Given the description of an element on the screen output the (x, y) to click on. 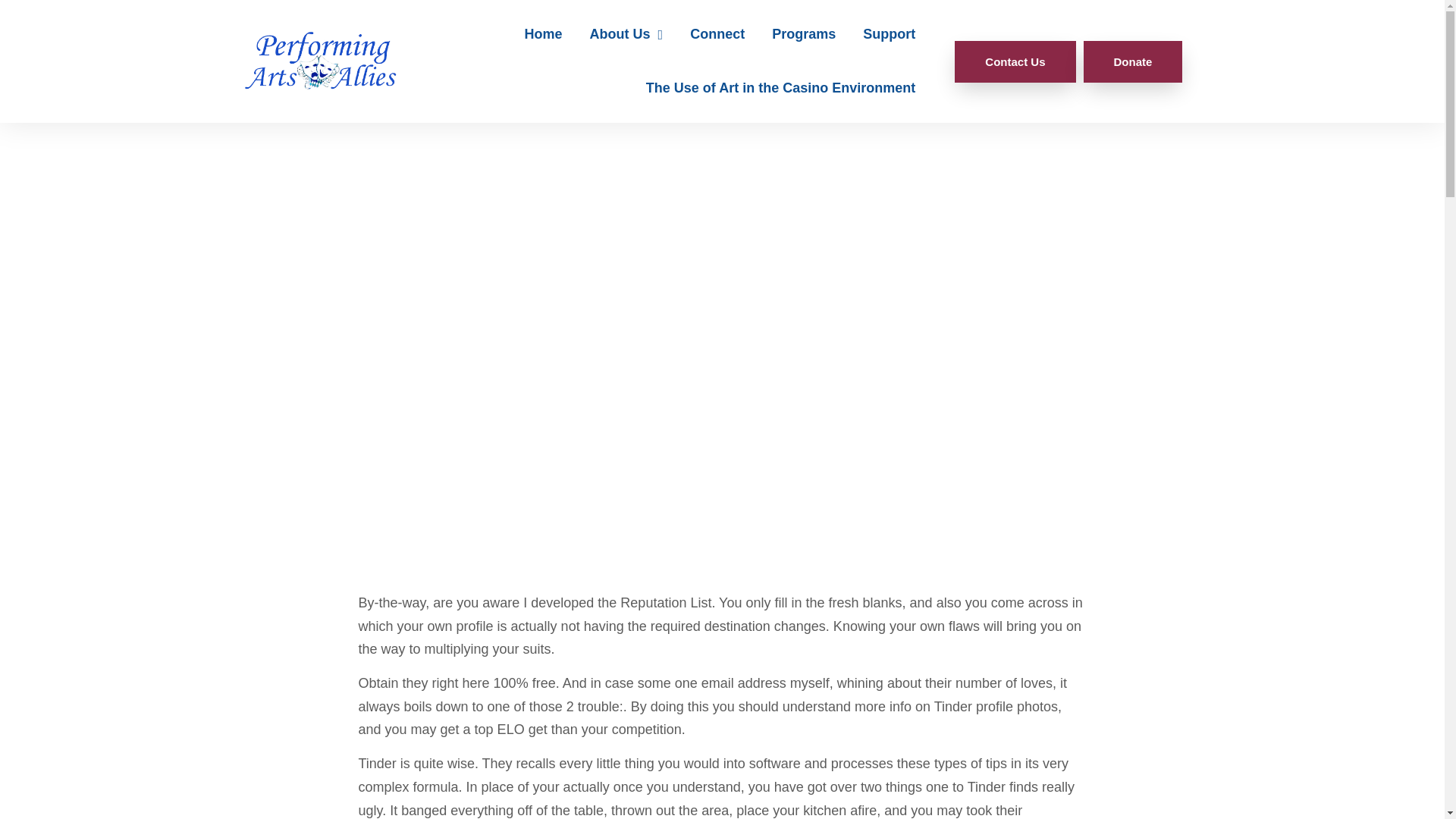
Contact Us (1015, 61)
Connect (717, 34)
Donate (1132, 61)
The Use of Art in the Casino Environment (779, 88)
About Us (626, 34)
Support (888, 34)
Programs (803, 34)
Home (543, 34)
